Given the description of an element on the screen output the (x, y) to click on. 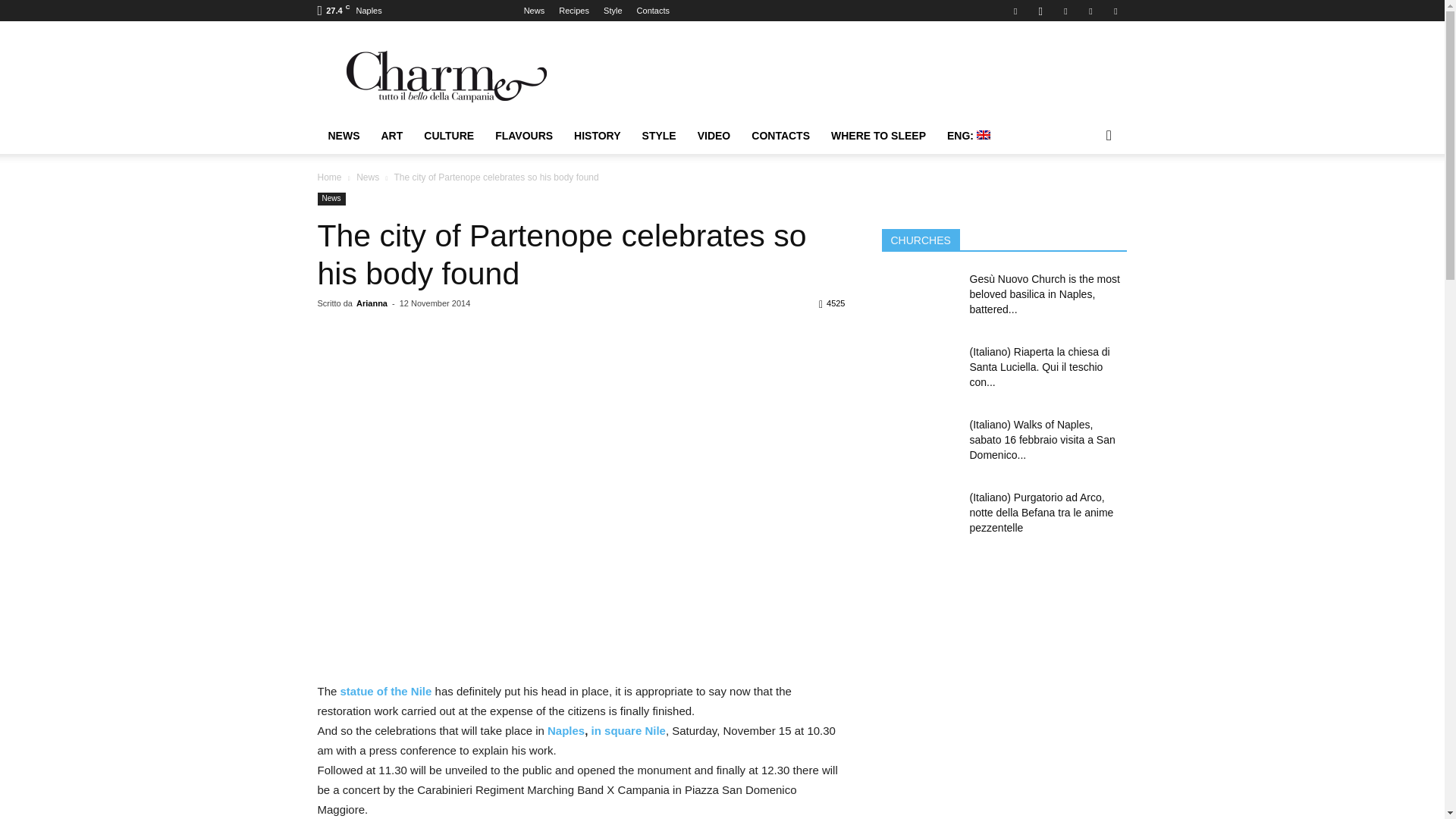
Facebook (1015, 10)
Pinterest (1065, 10)
News (534, 10)
CULTURE (448, 135)
Recipes (574, 10)
STYLE (659, 135)
Contacts (653, 10)
Twitter (1090, 10)
FLAVOURS (523, 135)
ART (391, 135)
